Given the description of an element on the screen output the (x, y) to click on. 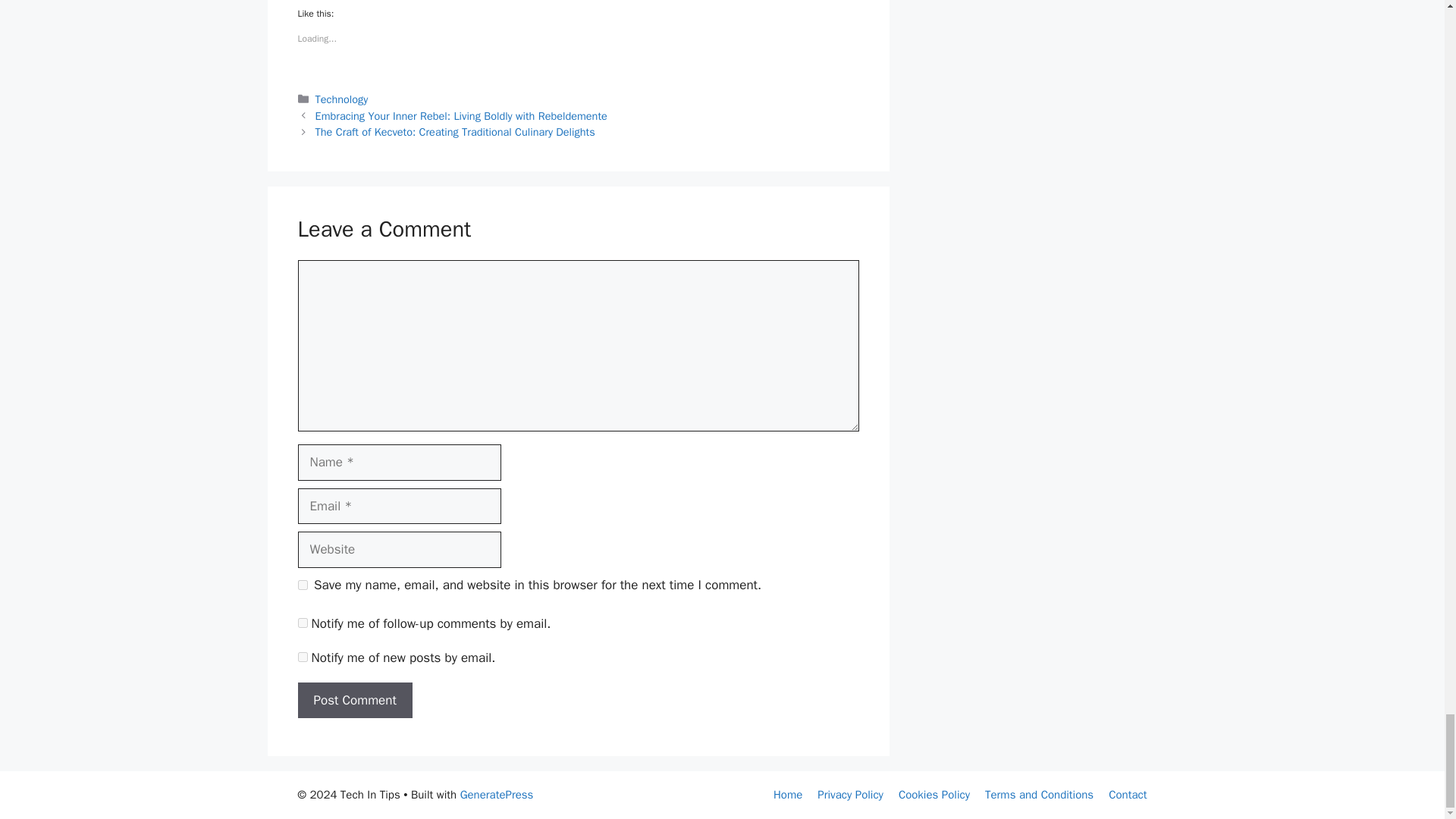
Post Comment (354, 700)
subscribe (302, 656)
yes (302, 584)
subscribe (302, 623)
